Given the description of an element on the screen output the (x, y) to click on. 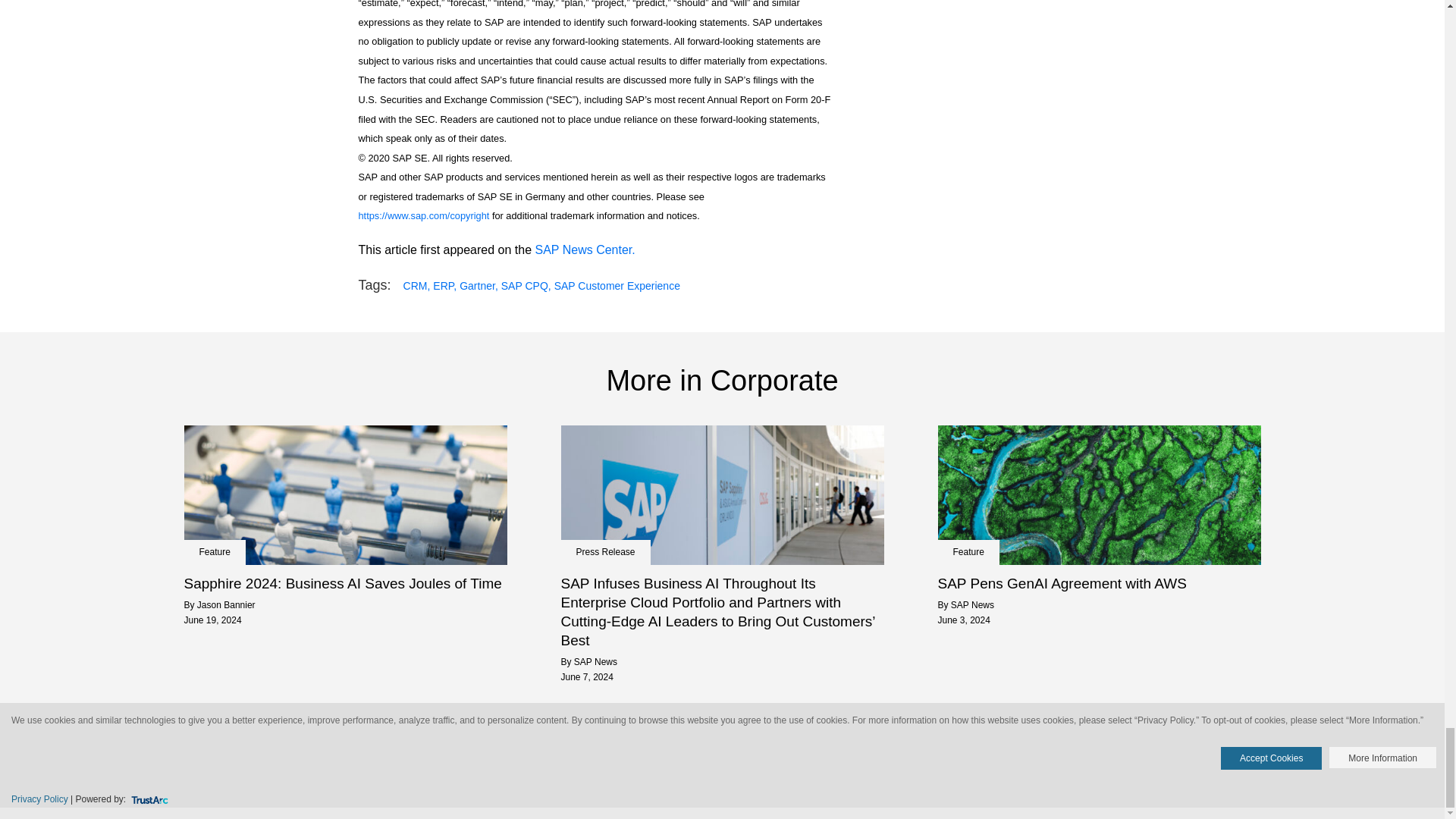
SAP Customer Experience (616, 286)
SAP Pens GenAI Agreement with AWS (1098, 583)
SAP News (595, 661)
SAP News Center. (582, 249)
SAP News (972, 604)
Posts by SAP News (972, 604)
Gartner (478, 286)
Sapphire 2024: Business AI Saves Joules of Time (344, 583)
CRM (416, 286)
Feature (214, 552)
